Given the description of an element on the screen output the (x, y) to click on. 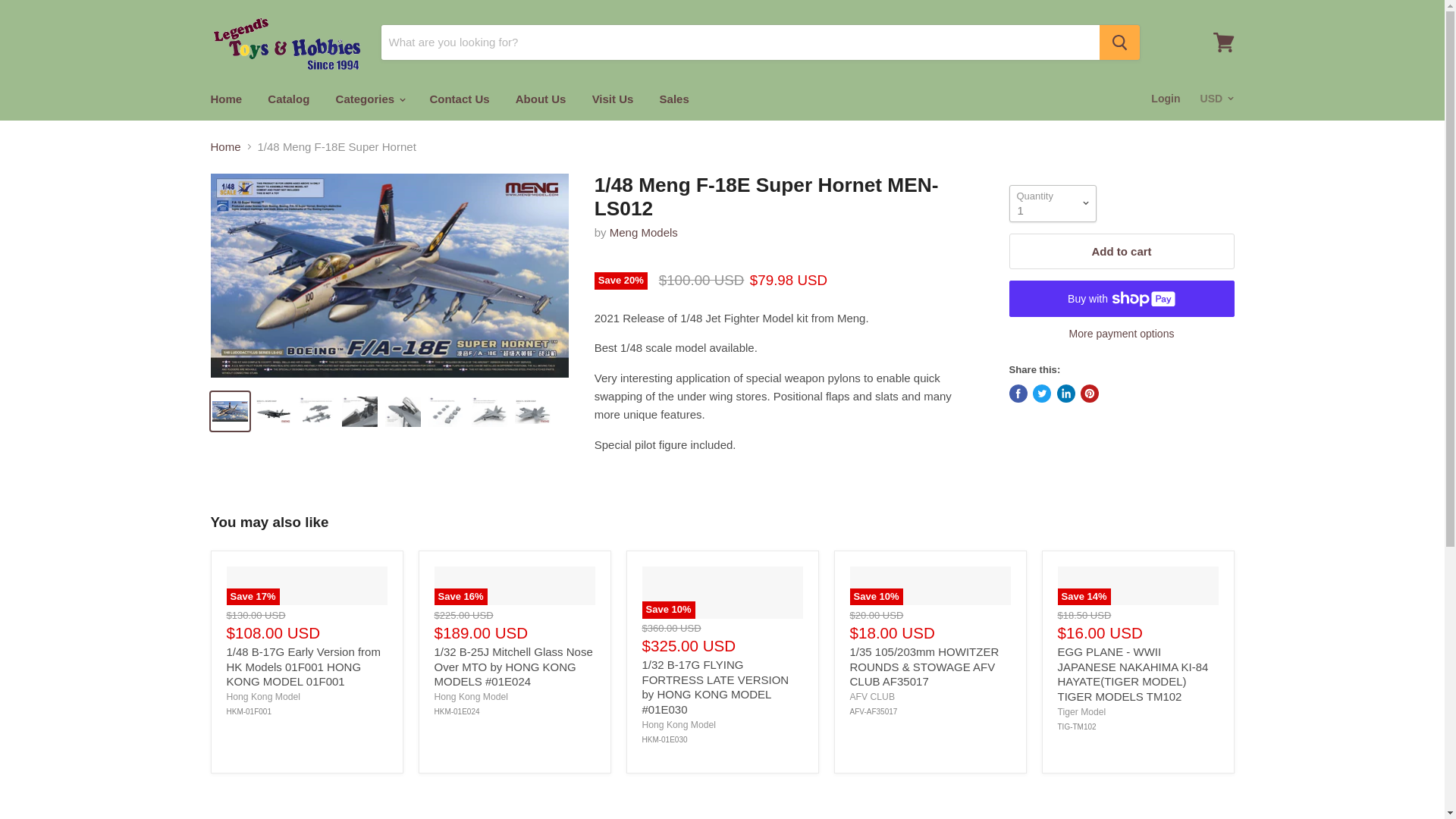
Home (225, 98)
Catalog (288, 98)
Categories (369, 98)
View cart (1223, 42)
Meng Models (644, 232)
